Given the description of an element on the screen output the (x, y) to click on. 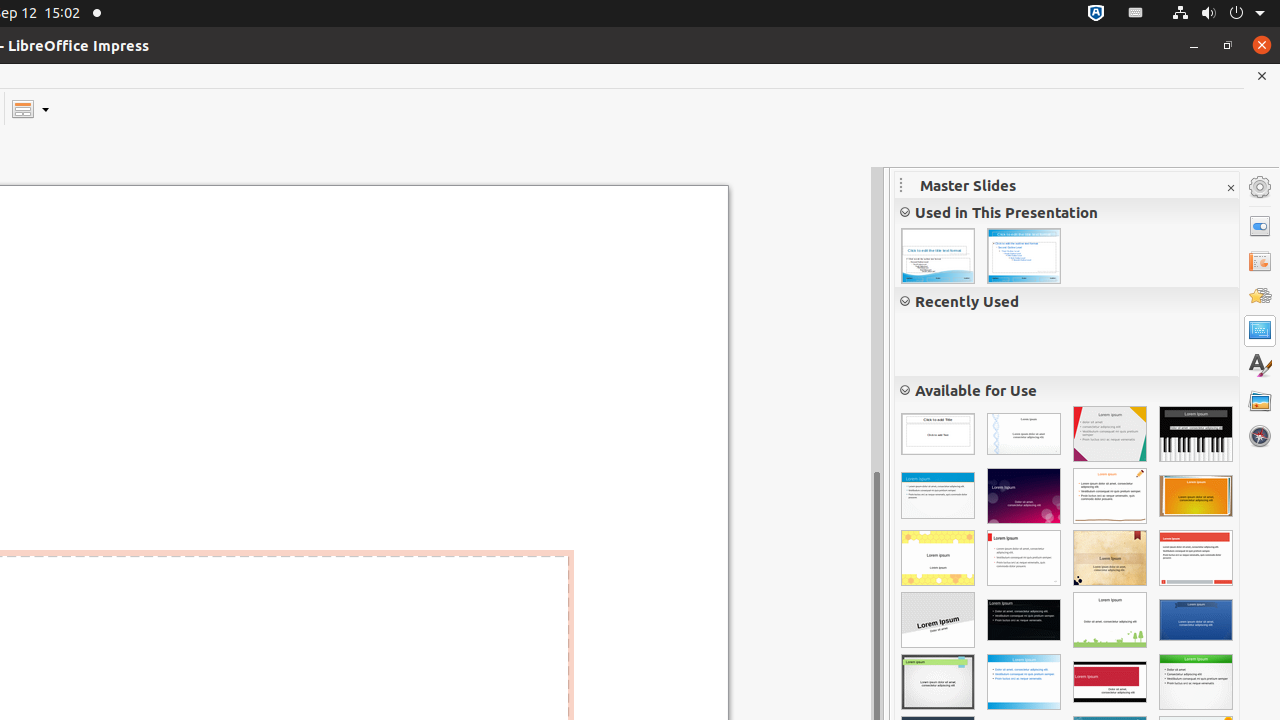
Properties Element type: radio-button (1260, 226)
Metropolis Element type: list-item (1196, 620)
Beehive Element type: list-item (938, 558)
Vintage Element type: list-item (1110, 558)
Impress Element type: list-item (1024, 558)
